Given the description of an element on the screen output the (x, y) to click on. 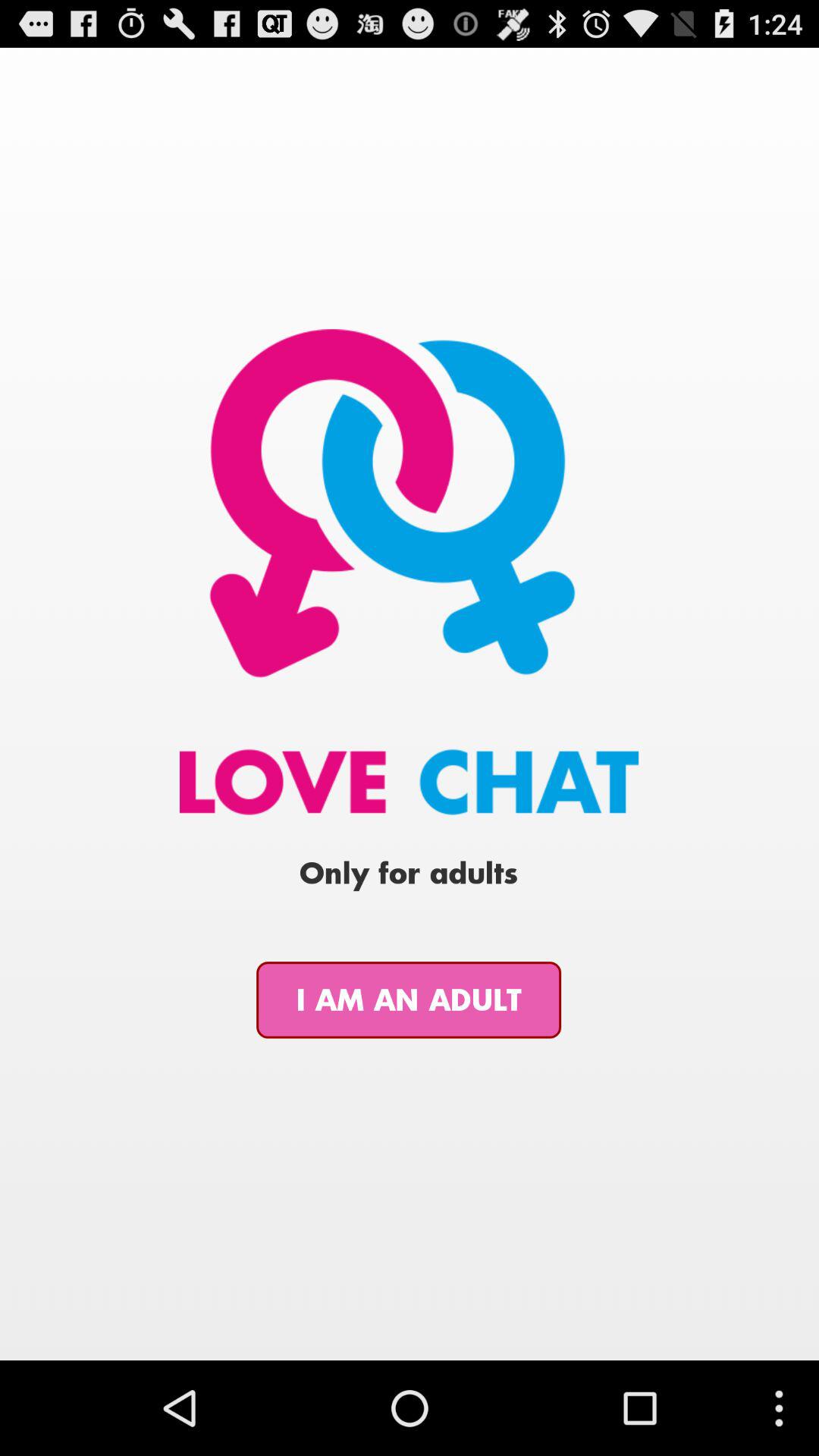
launch icon at the bottom (408, 999)
